Given the description of an element on the screen output the (x, y) to click on. 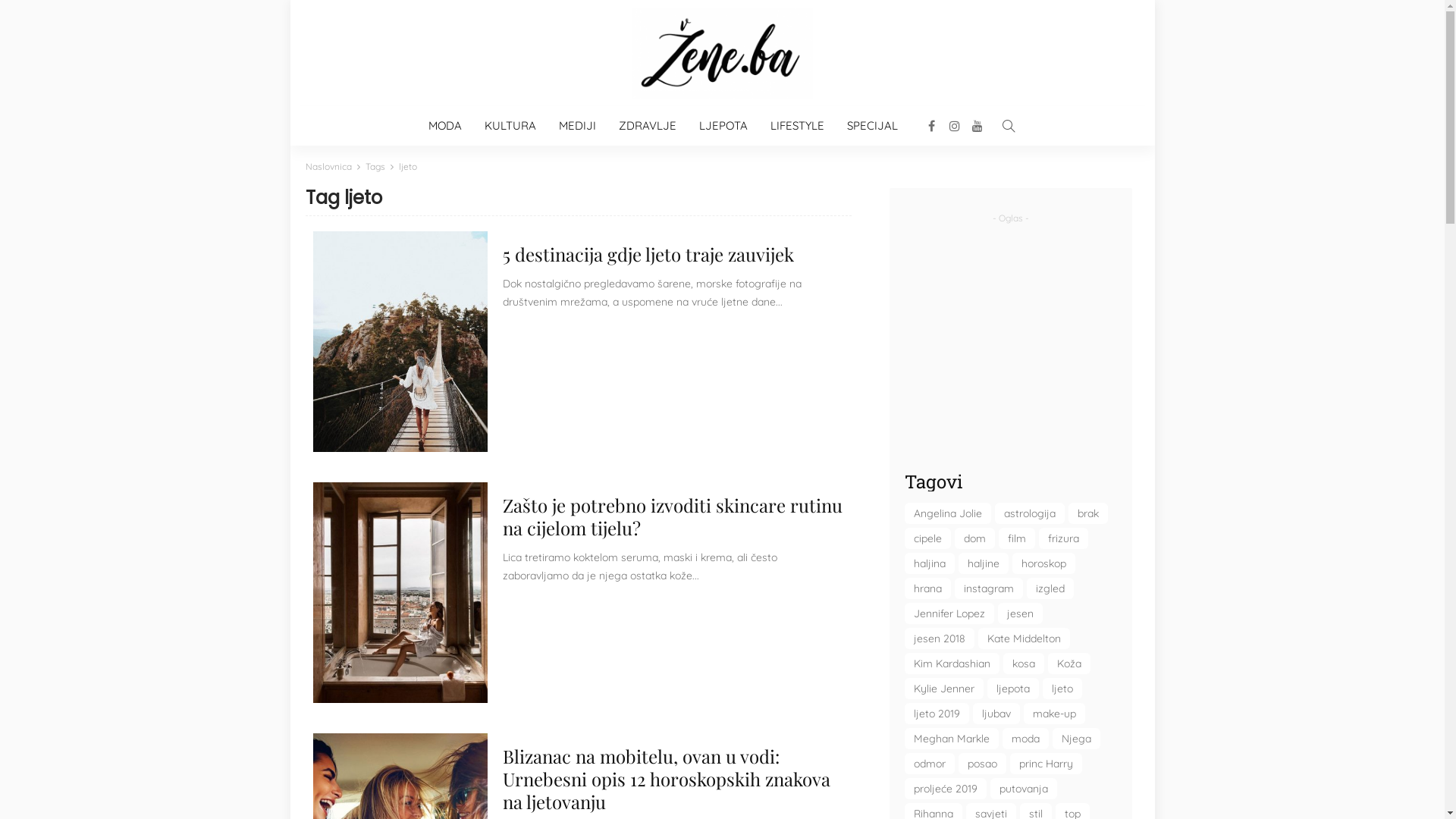
Jennifer Lopez Element type: text (948, 613)
horoskop Element type: text (1042, 563)
dom Element type: text (973, 538)
SPECIJAL Element type: text (872, 125)
Kate Middelton Element type: text (1024, 638)
ljubav Element type: text (995, 713)
Advertisement Element type: hover (1010, 335)
ljeto 2019 Element type: text (935, 713)
odmor Element type: text (928, 763)
KULTURA Element type: text (510, 125)
ljeto Element type: text (1061, 688)
5 destinacija gdje ljeto traje zauvijek Element type: hover (399, 341)
haljina Element type: text (928, 563)
kosa Element type: text (1022, 663)
ljepota Element type: text (1012, 688)
instagram Element type: text (987, 588)
Meghan Markle Element type: text (950, 738)
haljine Element type: text (983, 563)
MODA Element type: text (445, 125)
search Element type: hover (1008, 125)
Njega Element type: text (1076, 738)
film Element type: text (1015, 538)
make-up Element type: text (1054, 713)
putovanja Element type: text (1023, 788)
astrologija Element type: text (1029, 513)
izgled Element type: text (1049, 588)
Angelina Jolie Element type: text (946, 513)
jesen Element type: text (1019, 613)
Kim Kardashian Element type: text (950, 663)
hrana Element type: text (926, 588)
posao Element type: text (982, 763)
Kylie Jenner Element type: text (942, 688)
jesen 2018 Element type: text (938, 638)
Naslovnica Element type: text (327, 166)
ZDRAVLJE Element type: text (646, 125)
5 destinacija gdje ljeto traje zauvijek Element type: text (647, 253)
LJEPOTA Element type: text (722, 125)
princ Harry Element type: text (1046, 763)
moda Element type: text (1025, 738)
cipele Element type: text (926, 538)
LIFESTYLE Element type: text (796, 125)
MEDIJI Element type: text (577, 125)
frizura Element type: text (1063, 538)
brak Element type: text (1087, 513)
